Given the description of an element on the screen output the (x, y) to click on. 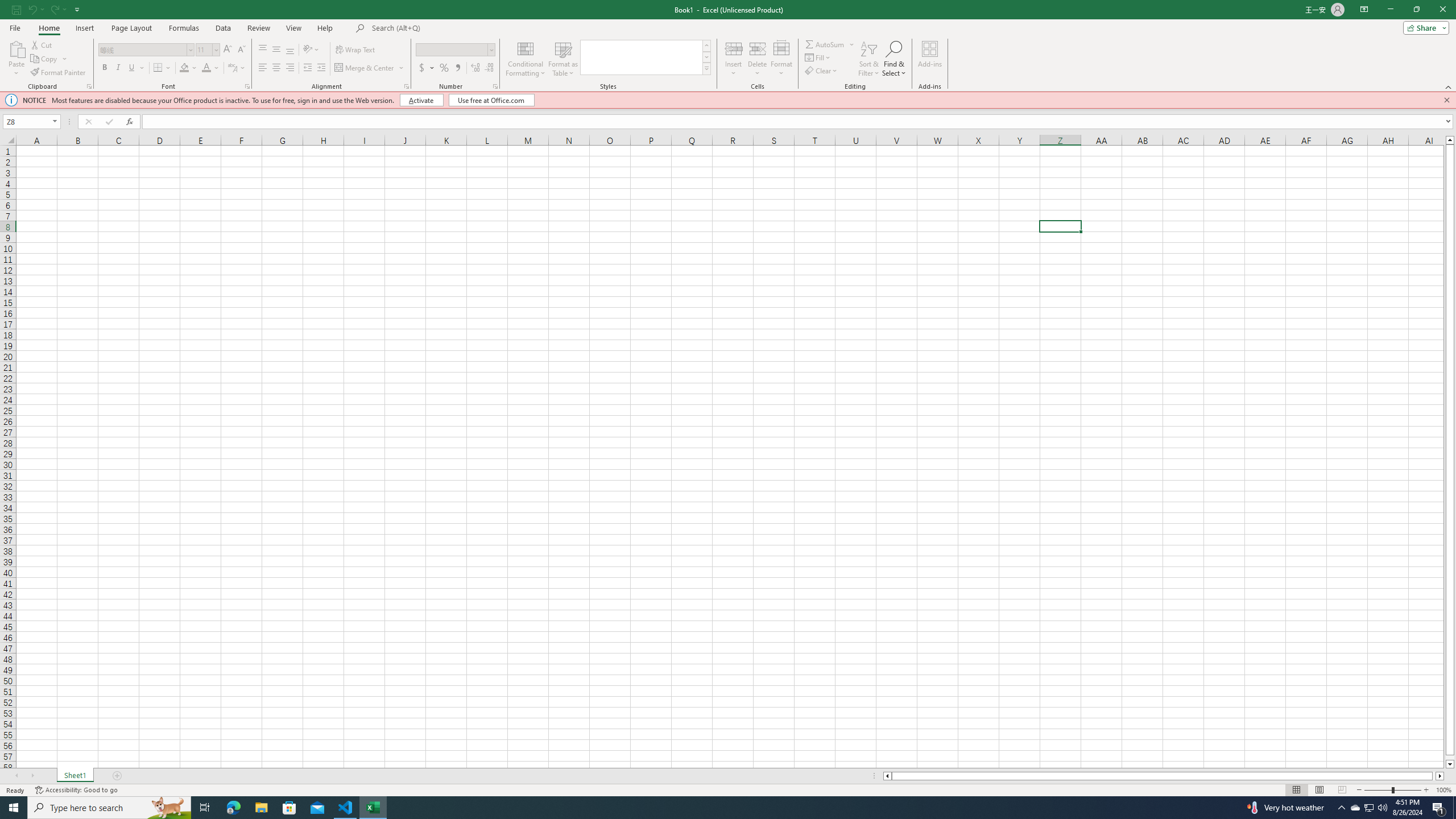
Wrap Text (355, 49)
Merge & Center (365, 67)
Show Phonetic Field (231, 67)
AutomationID: CellStylesGallery (645, 57)
Font (142, 49)
Paste (16, 48)
Decrease Indent (307, 67)
